Given the description of an element on the screen output the (x, y) to click on. 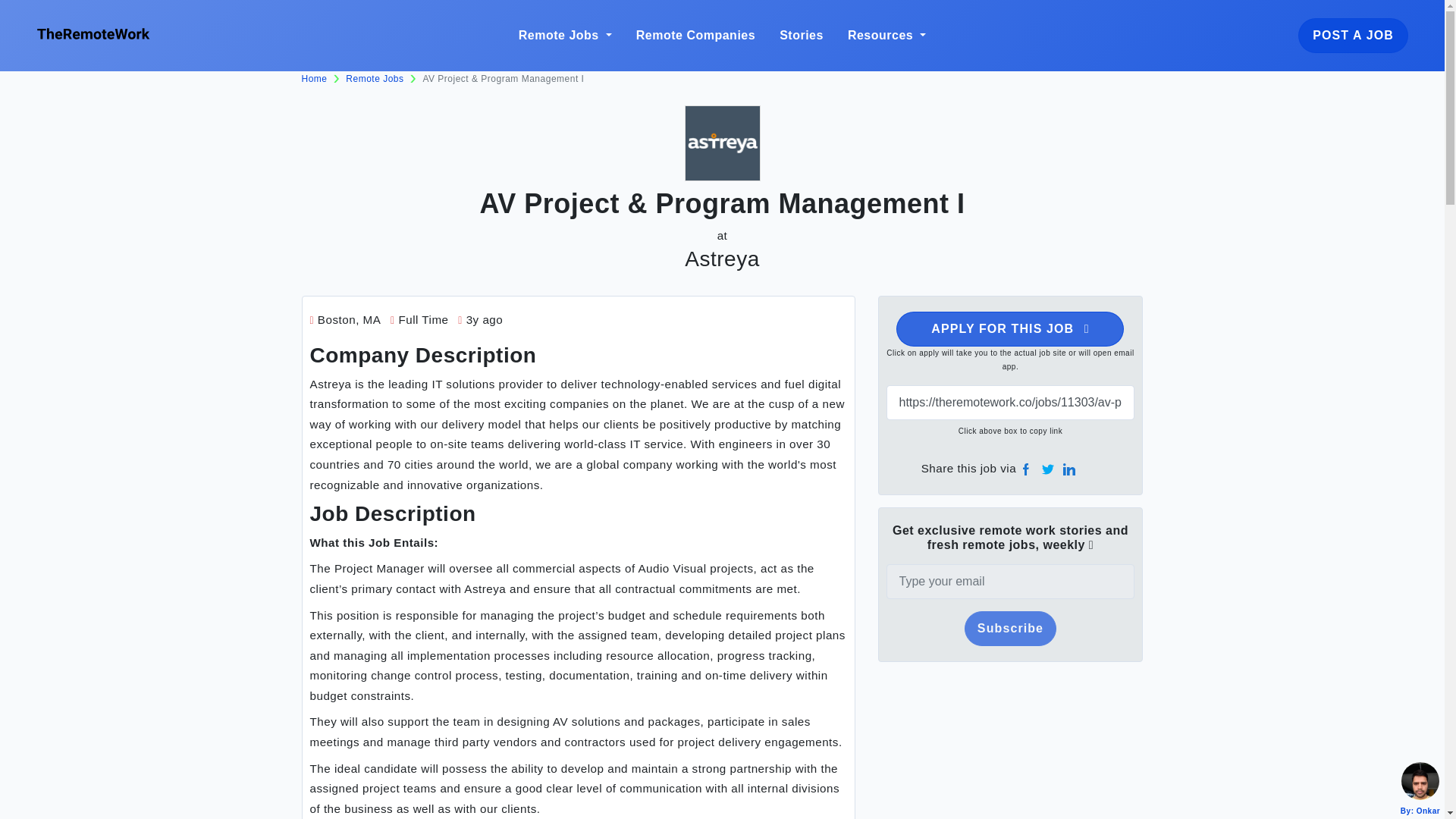
Resources (886, 35)
Remote Jobs (374, 78)
Home (314, 78)
Subscribe (1010, 628)
APPLY FOR THIS JOB (1010, 329)
Stories (801, 35)
Click to apply for the remote job (1010, 329)
Remote Jobs (564, 35)
Remote Companies (695, 35)
Maker: Onkar (1419, 781)
